Given the description of an element on the screen output the (x, y) to click on. 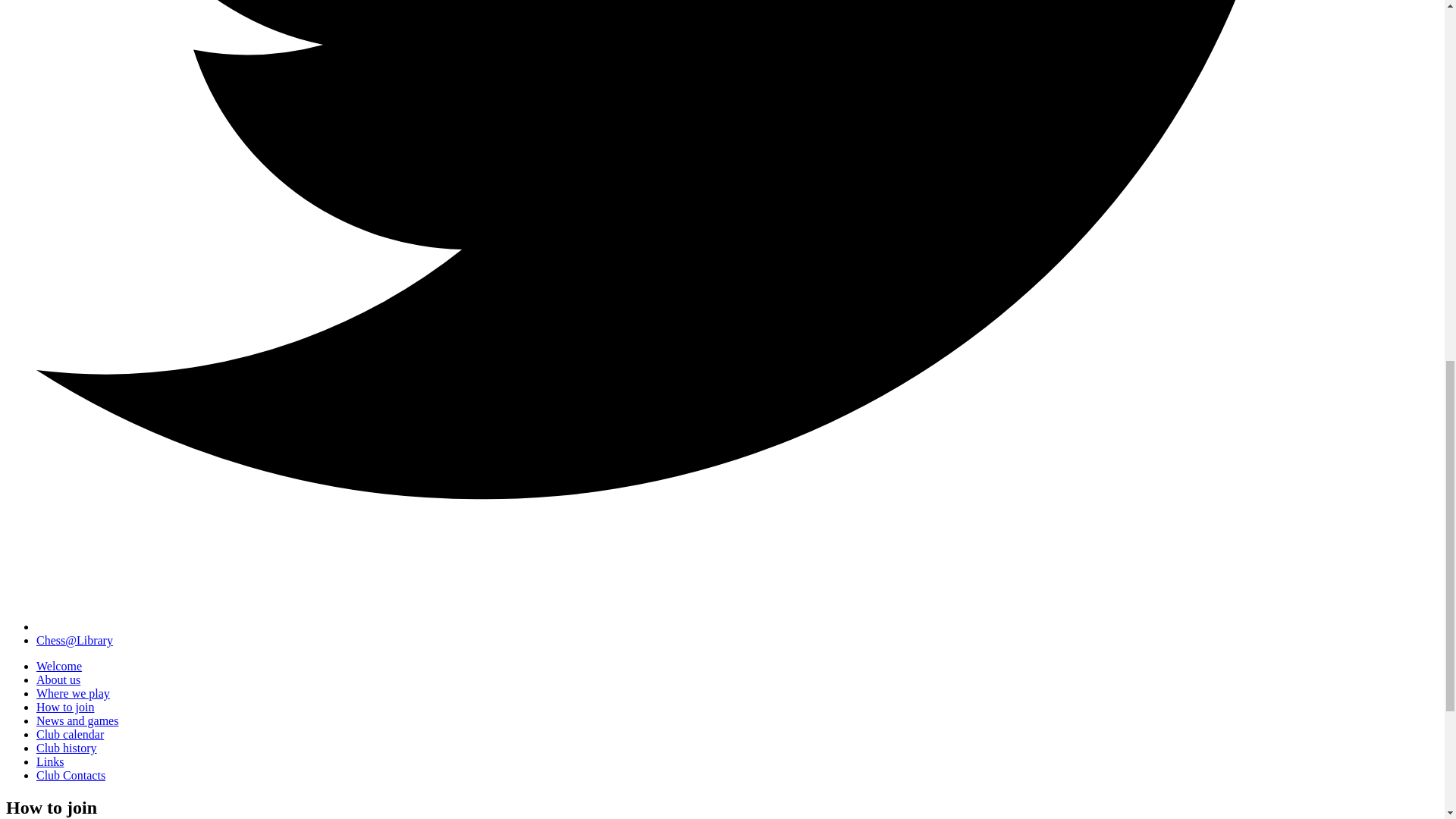
Links (50, 761)
Welcome (58, 666)
Club Contacts (70, 775)
Club calendar (69, 734)
How to join (65, 707)
News and games (76, 720)
About us (58, 679)
Club history (66, 748)
Where we play (73, 693)
